Given the description of an element on the screen output the (x, y) to click on. 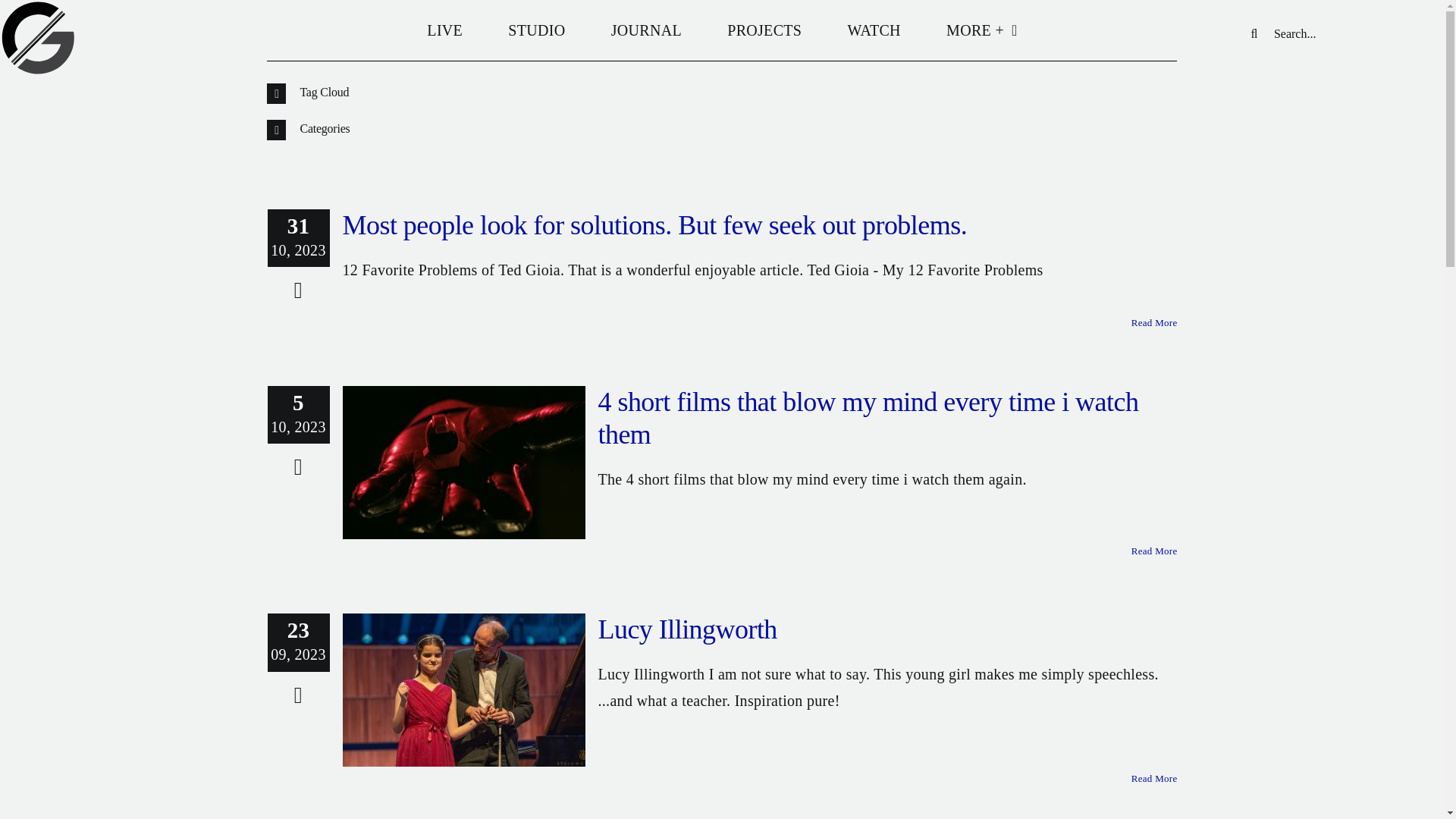
JOURNAL (646, 30)
PROJECTS (764, 30)
Tag Cloud (721, 93)
STUDIO (536, 30)
